Given the description of an element on the screen output the (x, y) to click on. 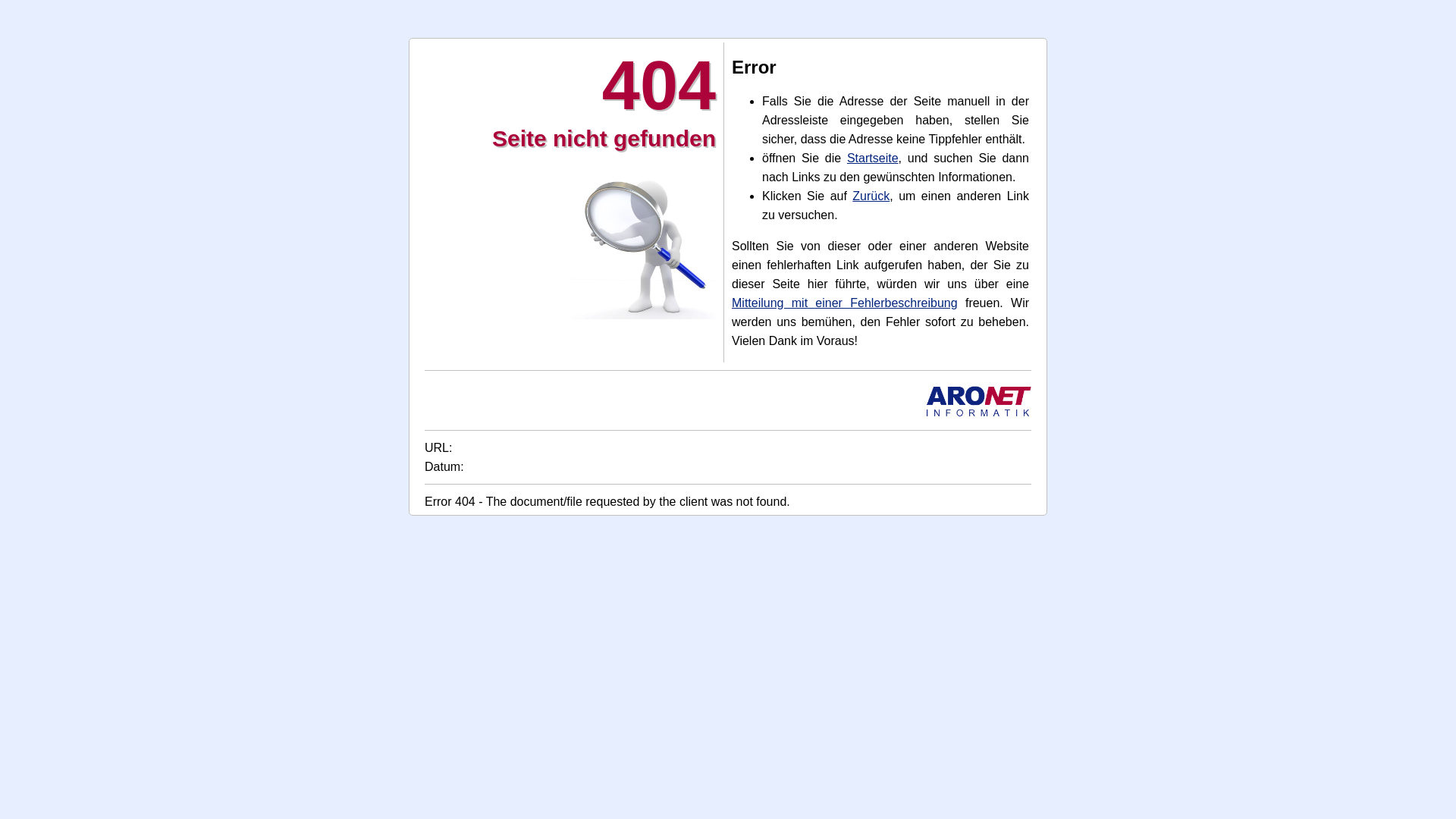
Startseite Element type: text (872, 157)
Mitteilung mit einer Fehlerbeschreibung Element type: text (844, 302)
